Given the description of an element on the screen output the (x, y) to click on. 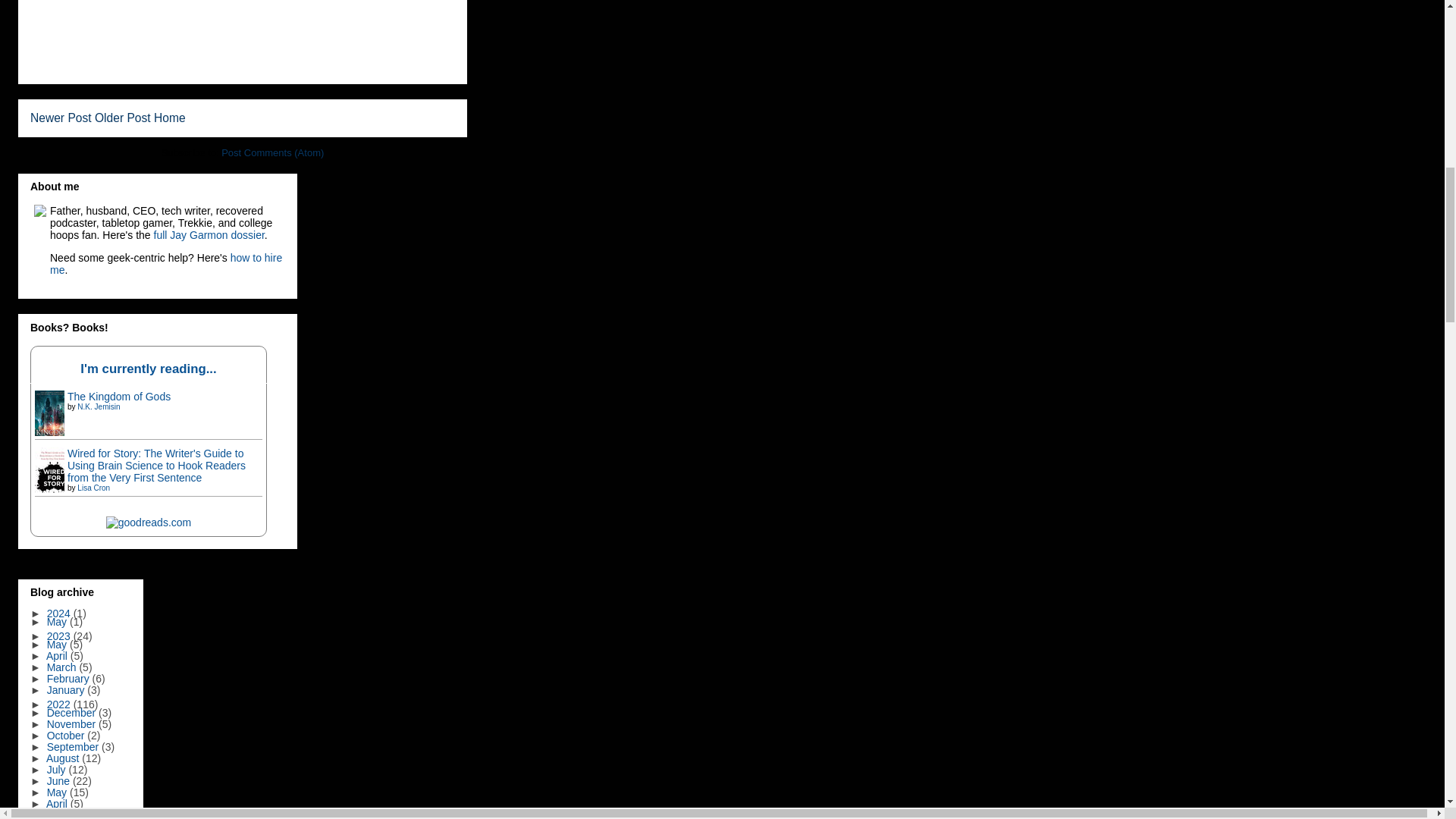
how to hire me (165, 263)
full Jay Garmon dossier (209, 234)
N.K. Jemisin (98, 406)
Newer Post (60, 117)
Older Post (122, 117)
I'm currently reading... (147, 368)
Older Post (122, 117)
Newer Post (60, 117)
Home (170, 117)
The Kingdom of Gods (118, 396)
